Given the description of an element on the screen output the (x, y) to click on. 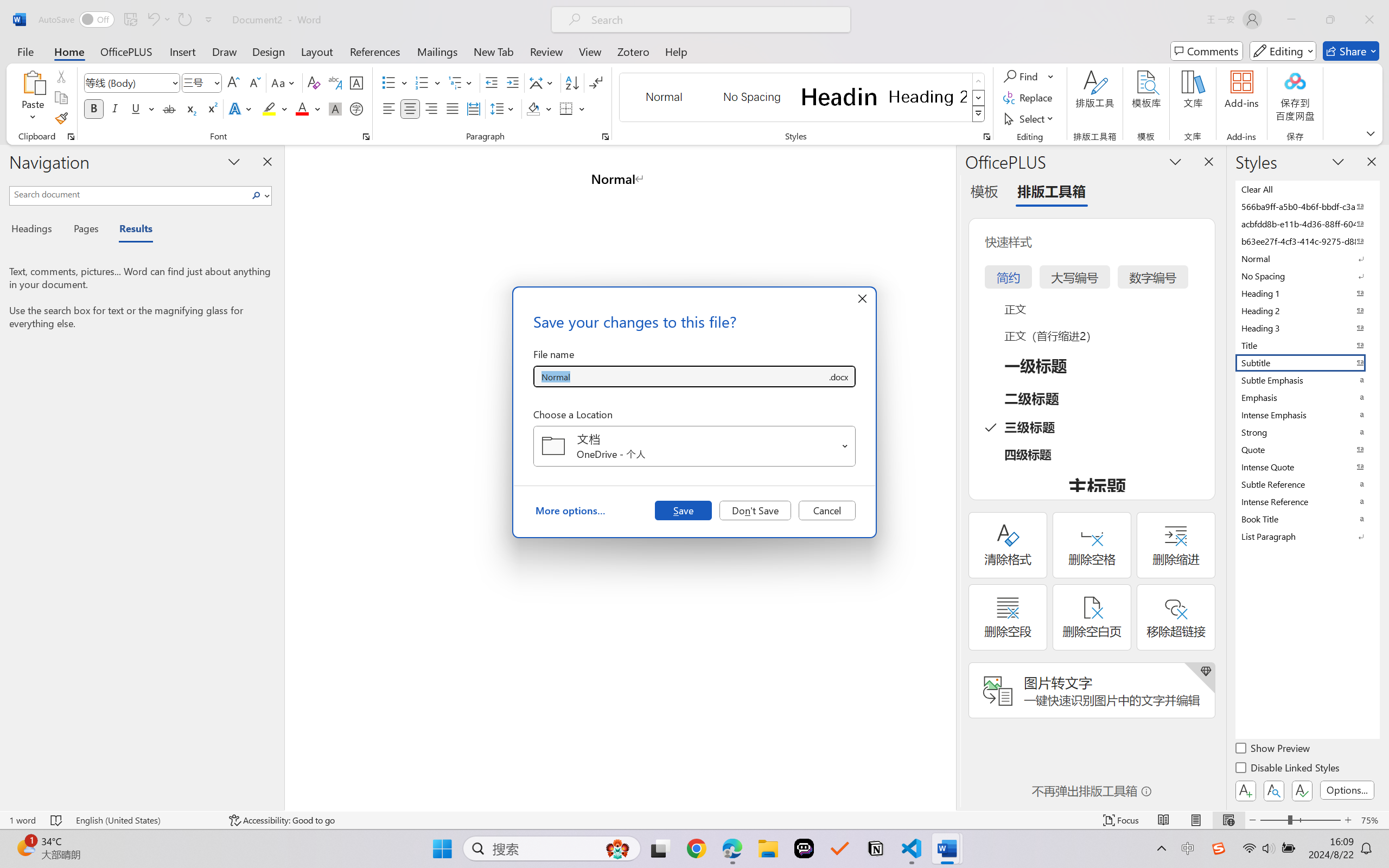
Sort... (571, 82)
Task Pane Options (1175, 161)
Heading 2 (927, 96)
Format Painter (60, 118)
Font Size (196, 82)
Font Size (201, 82)
b63ee27f-4cf3-414c-9275-d88e3f90795e (1306, 240)
Intense Emphasis (1306, 414)
AutomationID: QuickStylesGallery (802, 97)
Microsoft search (715, 19)
Select (1030, 118)
Design (268, 51)
